Given the description of an element on the screen output the (x, y) to click on. 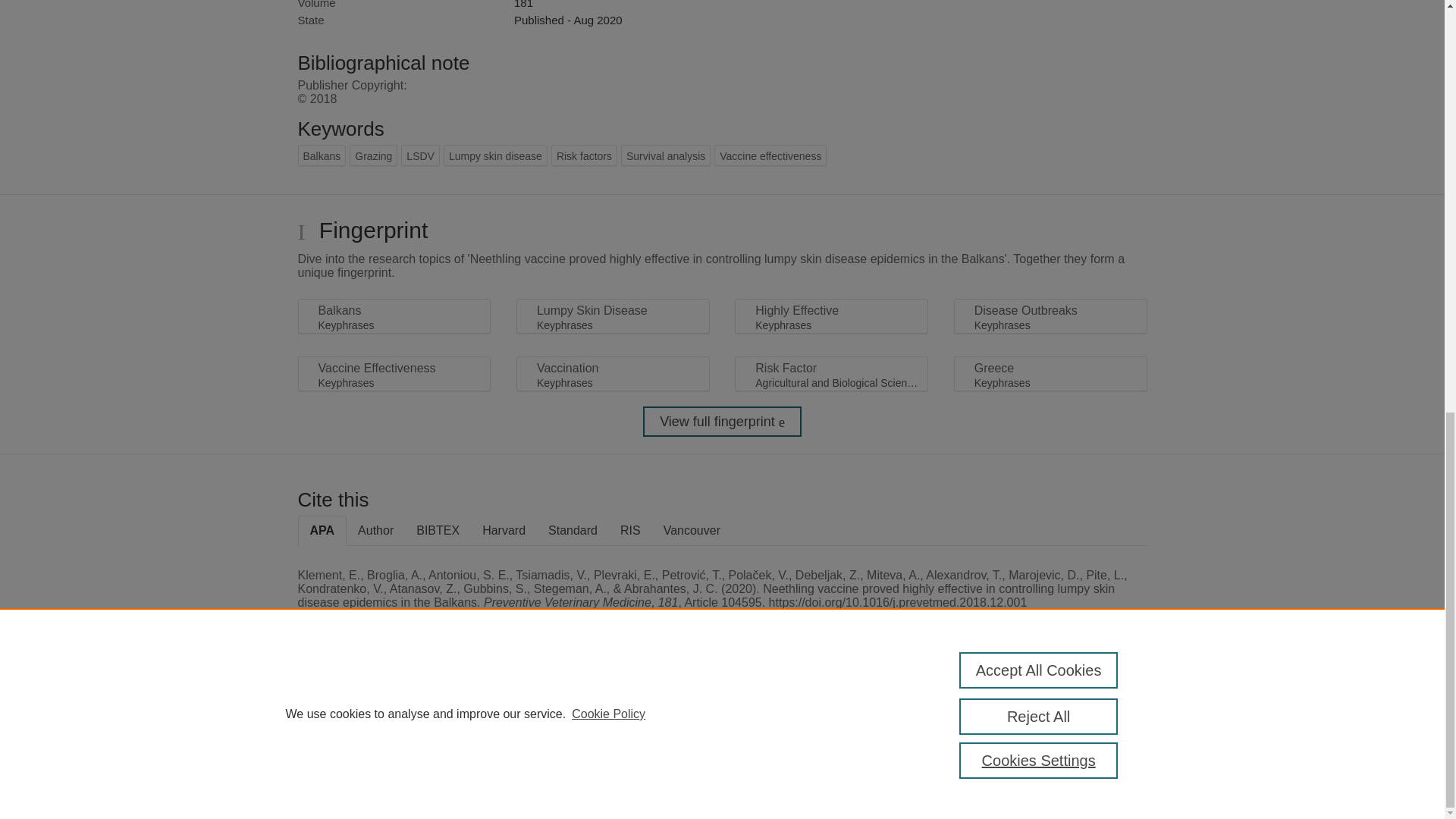
View full fingerprint (722, 421)
Elsevier B.V. (506, 728)
Cookies Settings (334, 781)
Scopus (394, 708)
use of cookies (796, 760)
Report vulnerability (1088, 745)
About web accessibility (1088, 713)
Pure (362, 708)
